Given the description of an element on the screen output the (x, y) to click on. 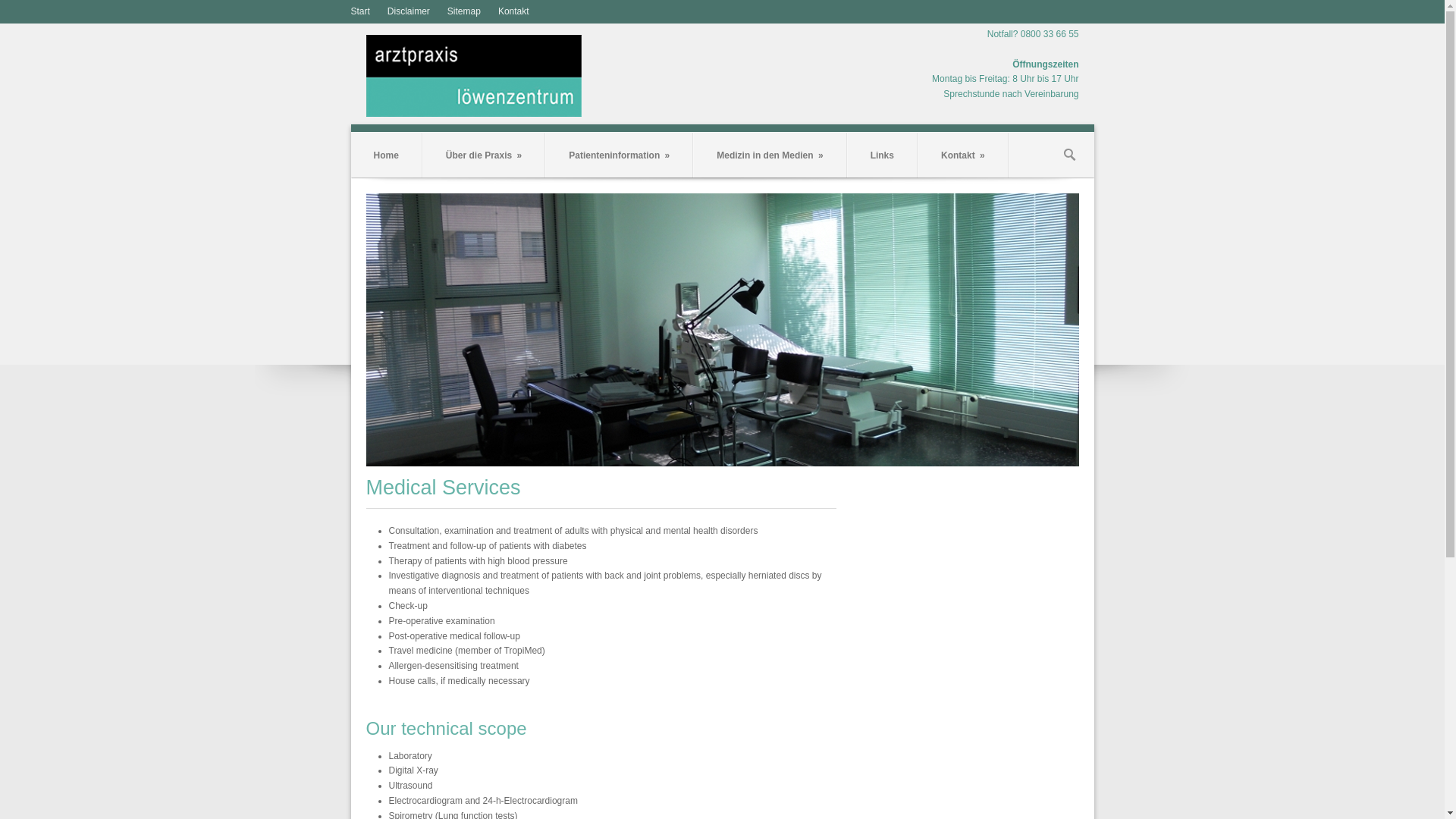
Links Element type: text (881, 155)
Home Element type: text (385, 155)
Start Element type: text (359, 11)
Sitemap Element type: text (463, 11)
Kontakt Element type: text (513, 11)
Disclaimer Element type: text (408, 11)
